Given the description of an element on the screen output the (x, y) to click on. 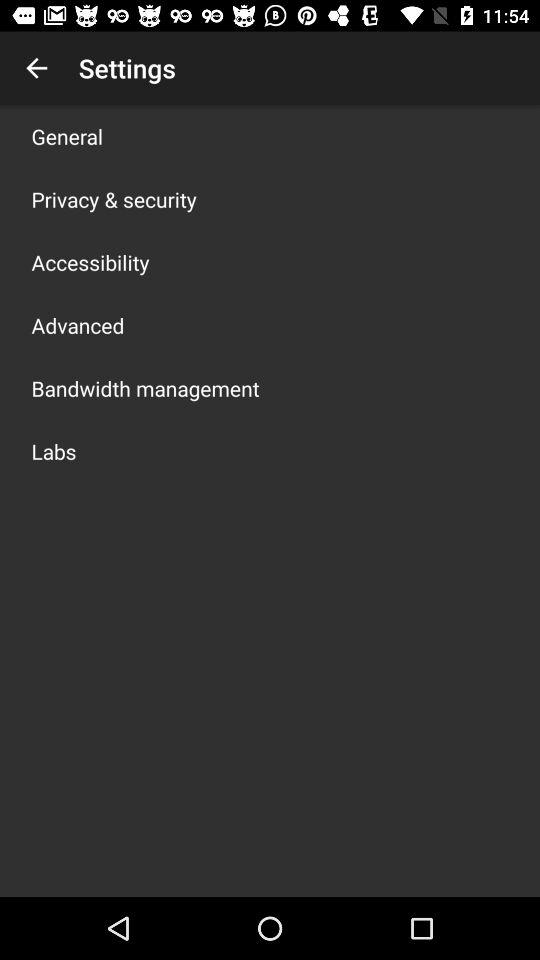
flip to the bandwidth management icon (145, 388)
